Given the description of an element on the screen output the (x, y) to click on. 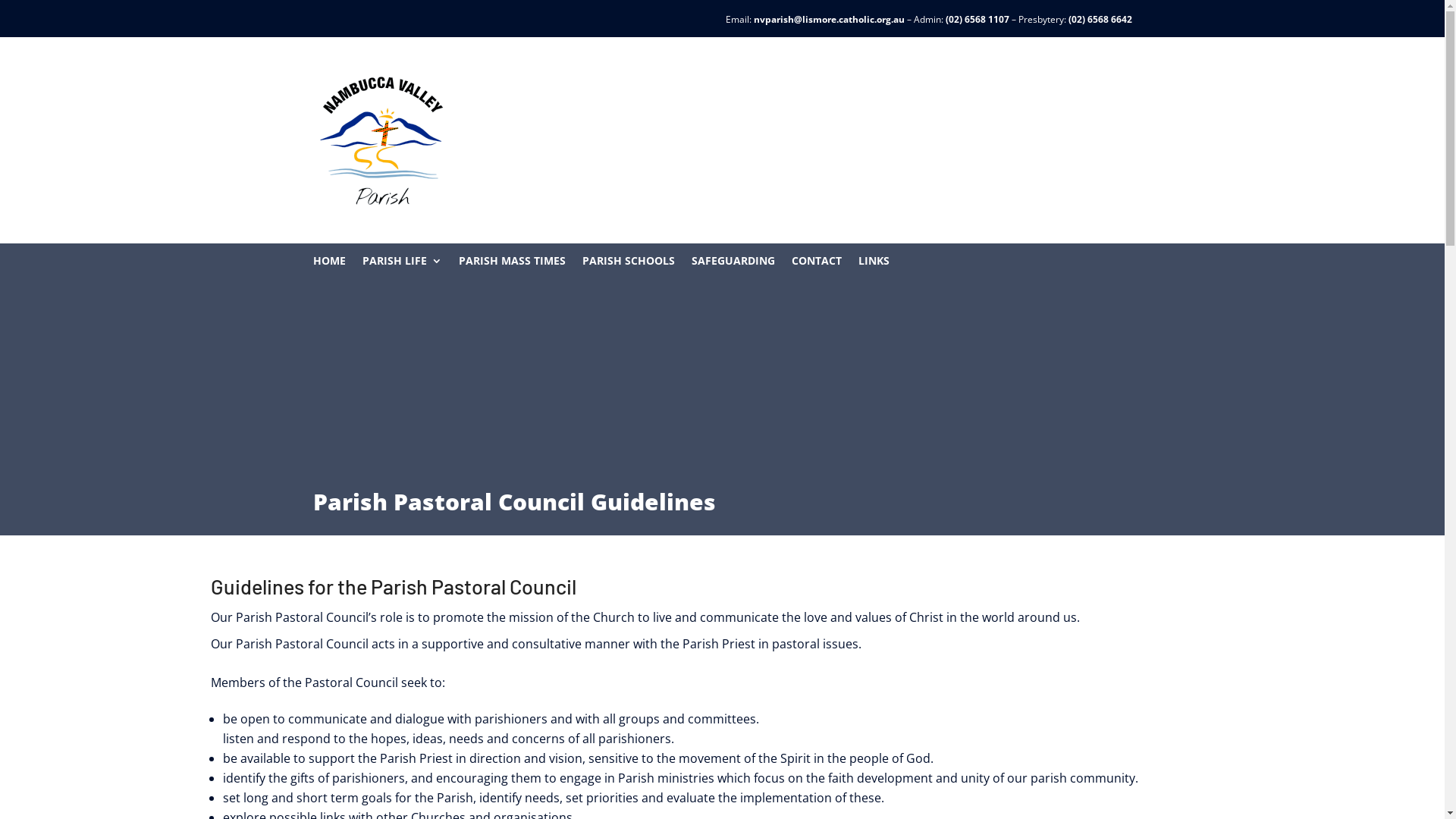
HOME Element type: text (328, 263)
LINKS Element type: text (873, 263)
PARISH MASS TIMES Element type: text (511, 263)
PARISH LIFE Element type: text (402, 263)
(02) 6568 1107 Element type: text (976, 18)
SAFEGUARDING Element type: text (733, 263)
nvparish@lismore.catholic.org.au Element type: text (828, 18)
logo-180 Element type: hover (380, 140)
CONTACT Element type: text (816, 263)
(02) 6568 6642 Element type: text (1099, 18)
PARISH SCHOOLS Element type: text (628, 263)
